Given the description of an element on the screen output the (x, y) to click on. 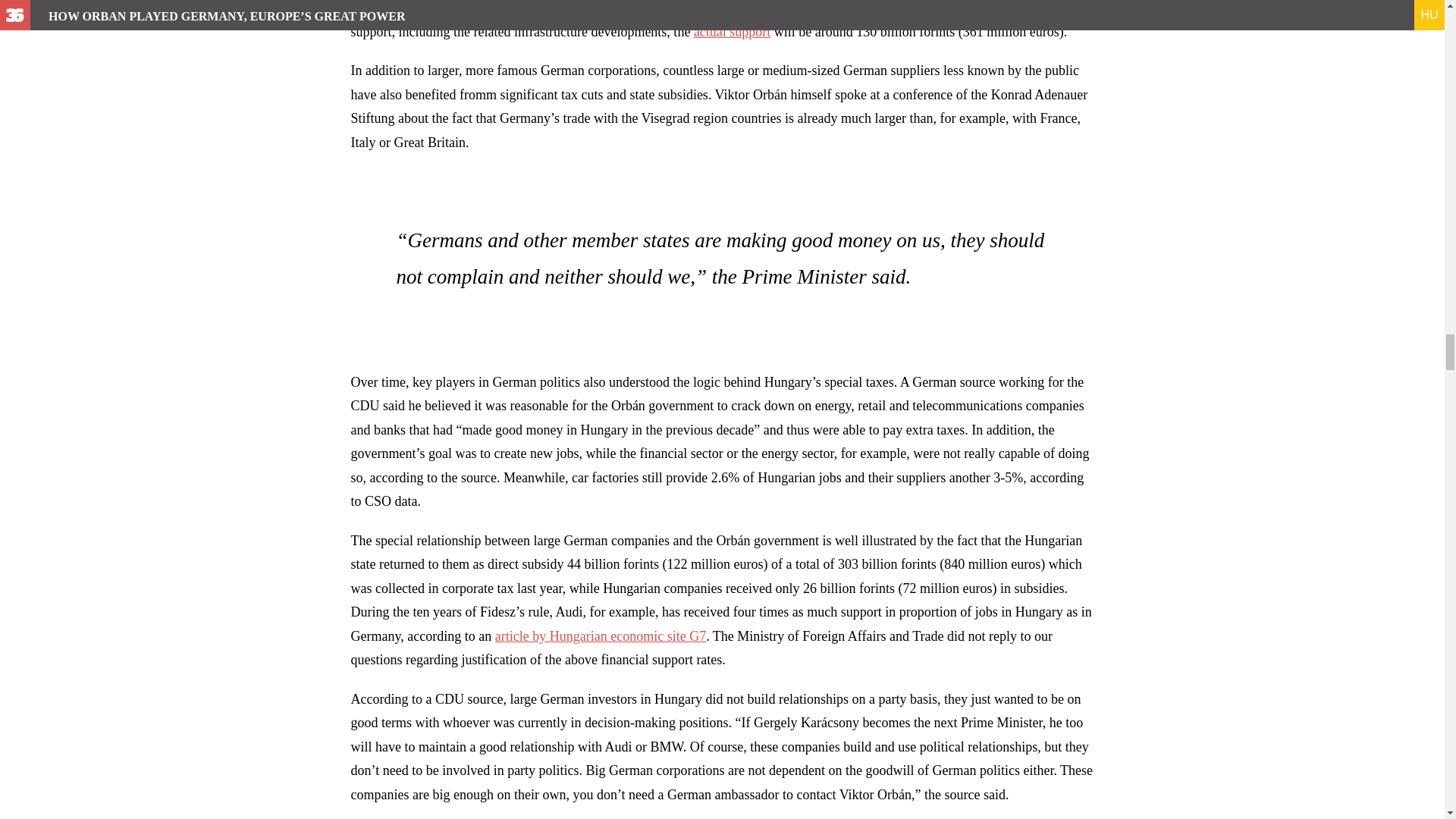
actual support (732, 31)
article by Hungarian economic site G7 (600, 635)
